Given the description of an element on the screen output the (x, y) to click on. 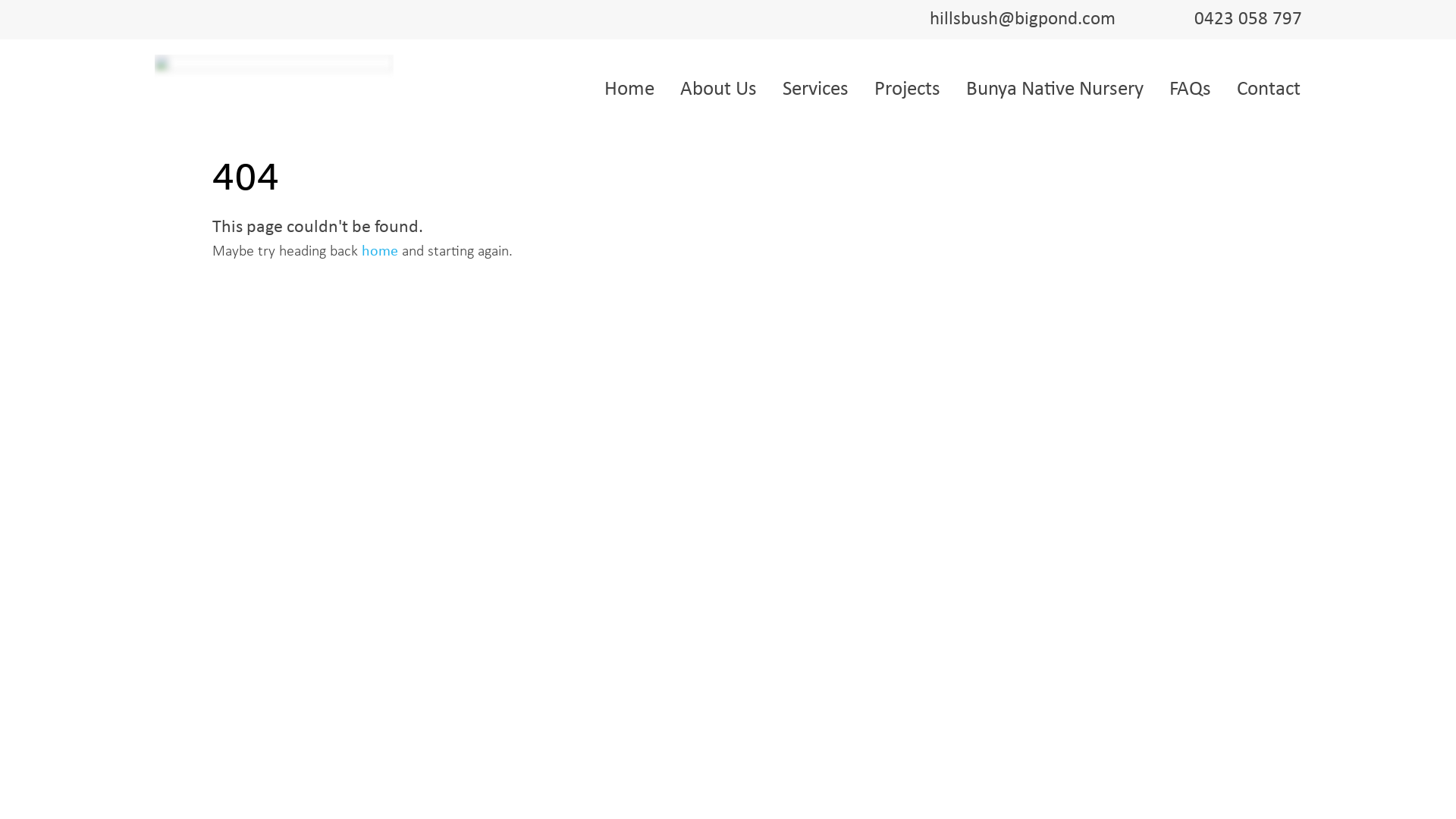
Bunya Native Nursery Element type: text (1054, 90)
Contact Element type: text (1267, 90)
Services Element type: text (815, 90)
Home Element type: text (628, 90)
home Element type: text (379, 252)
About Us Element type: text (717, 90)
Projects Element type: text (906, 90)
hillsbush@bigpond.com Element type: text (1022, 19)
FAQs Element type: text (1190, 90)
 0423 058 797 Element type: text (1245, 19)
